Given the description of an element on the screen output the (x, y) to click on. 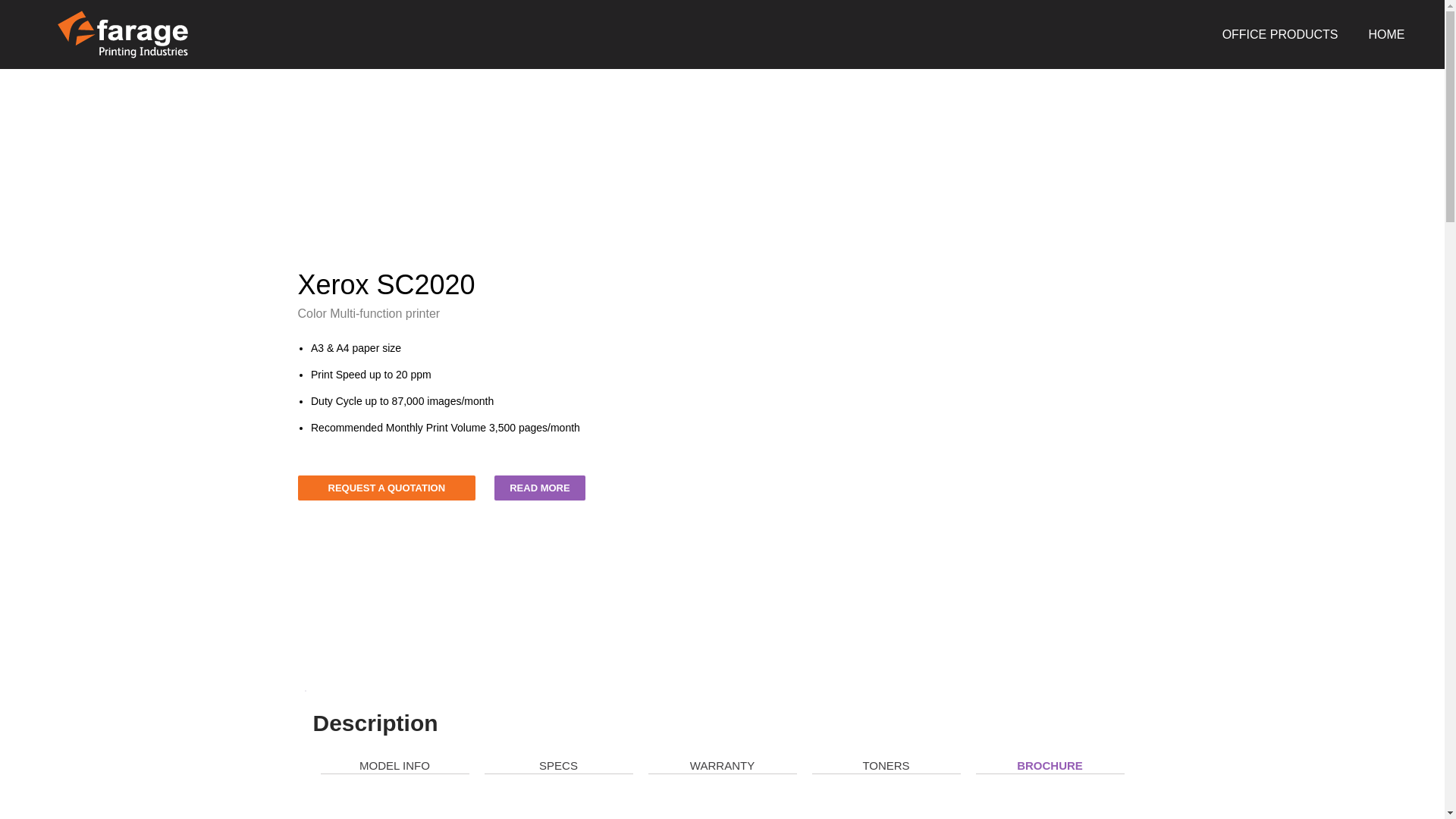
HOME (1387, 33)
REQUEST A QUOTATION (386, 487)
TONERS (885, 764)
BROCHURE (1049, 765)
SPECS (558, 764)
READ MORE (540, 487)
MODEL INFO (394, 764)
OFFICE PRODUCTS (1280, 33)
WARRANTY (721, 764)
